Given the description of an element on the screen output the (x, y) to click on. 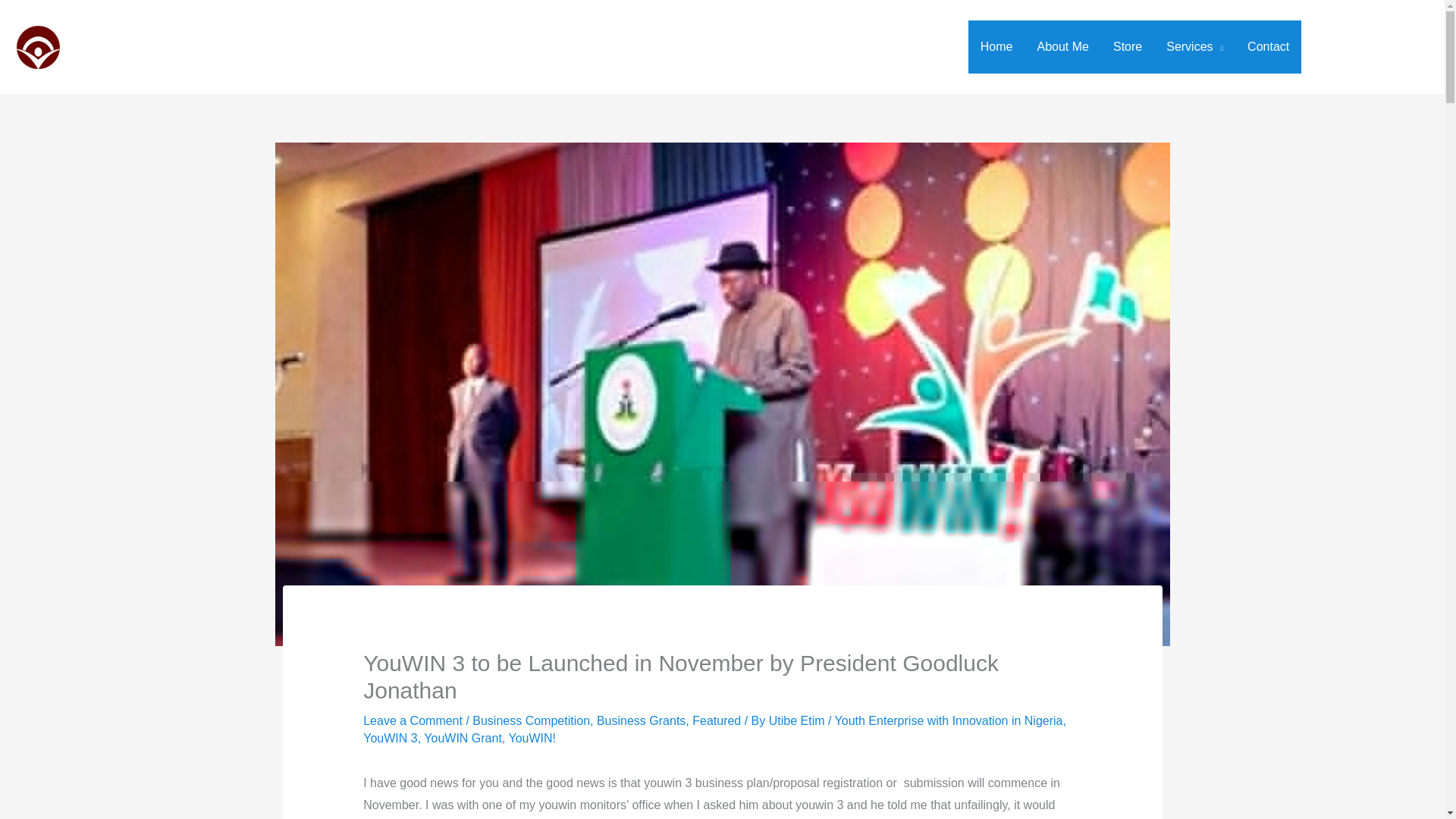
Business Grants (640, 720)
Featured (717, 720)
YouWIN 3 (389, 738)
YouWIN! (532, 738)
Services (1194, 46)
Leave a Comment (412, 720)
Contact (1267, 46)
Home (996, 46)
About Me (1062, 46)
Youth Enterprise with Innovation in Nigeria (948, 720)
Store (1127, 46)
Business Competition (530, 720)
YouWIN Grant (462, 738)
Work With Me (1372, 47)
View all posts by Utibe Etim (798, 720)
